Given the description of an element on the screen output the (x, y) to click on. 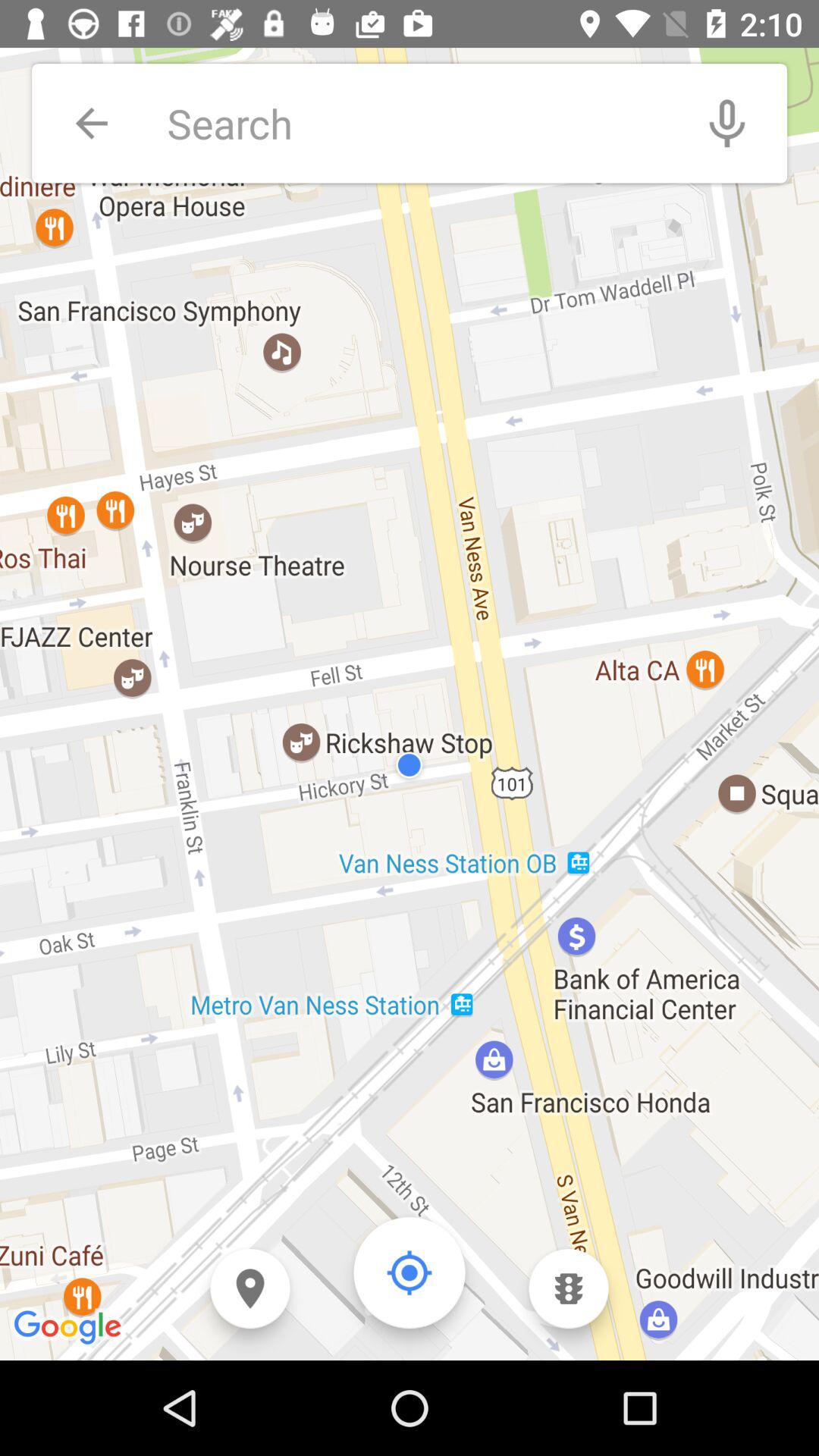
turn on item at the bottom right corner (568, 1288)
